Given the description of an element on the screen output the (x, y) to click on. 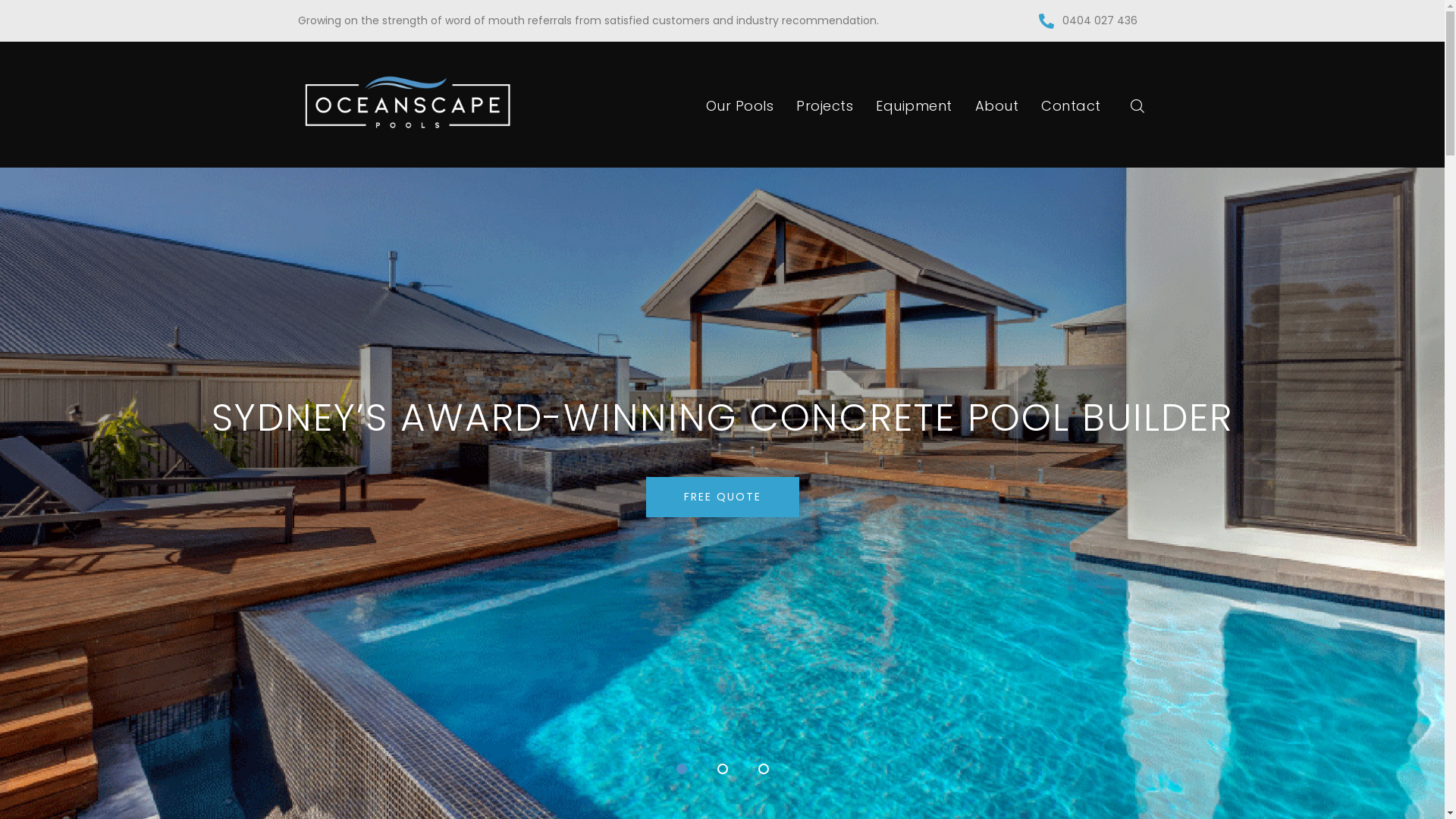
Projects Element type: text (824, 107)
FREE QUOTE Element type: text (722, 496)
About Element type: text (997, 107)
0404 027 436 Element type: text (1099, 21)
Our Pools Element type: text (740, 107)
Equipment Element type: text (913, 107)
Contact Element type: text (1071, 107)
